Given the description of an element on the screen output the (x, y) to click on. 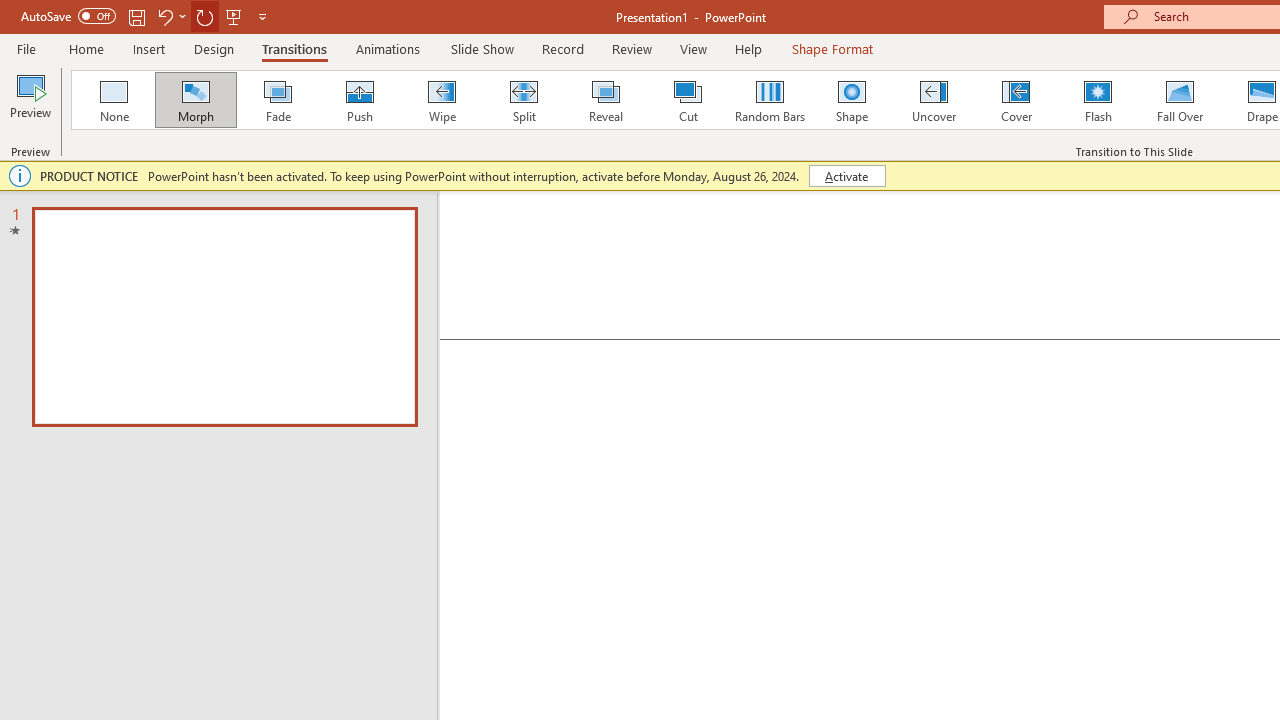
Morph (195, 100)
Shape (852, 100)
Uncover (934, 100)
Wipe (441, 100)
Cut (687, 100)
Reveal (605, 100)
